Given the description of an element on the screen output the (x, y) to click on. 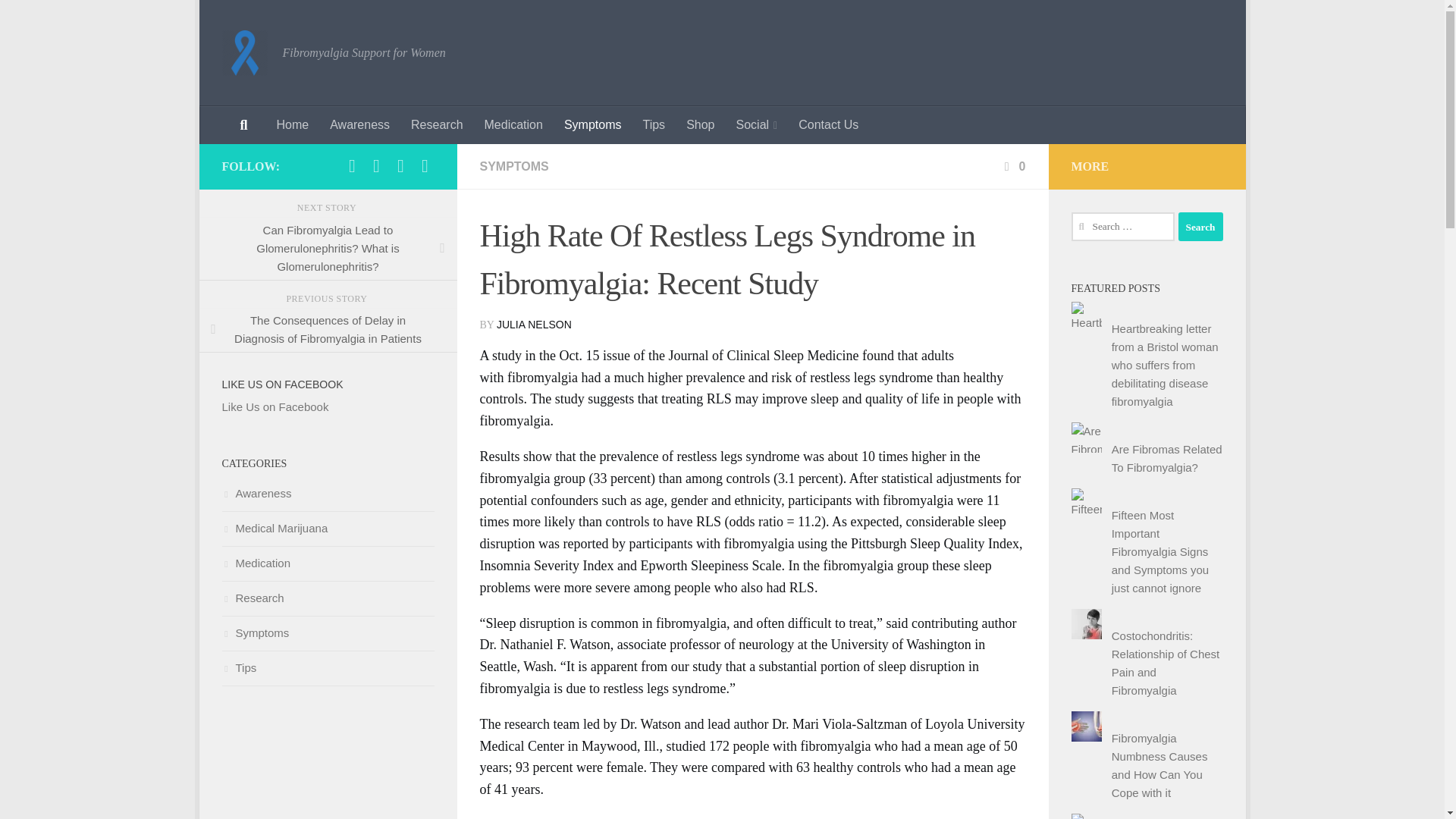
Research (436, 125)
Tips (653, 125)
Symptoms (592, 125)
Join our Facebook Community (375, 166)
Search (1200, 226)
Follow us on Facebook (351, 166)
Skip to content (263, 20)
Follow us on Instagram (423, 166)
Posts by Julia Nelson (534, 324)
Home (291, 125)
Send a Feedback (400, 166)
SYMPTOMS (513, 165)
Contact Us (828, 125)
Medication (513, 125)
